Given the description of an element on the screen output the (x, y) to click on. 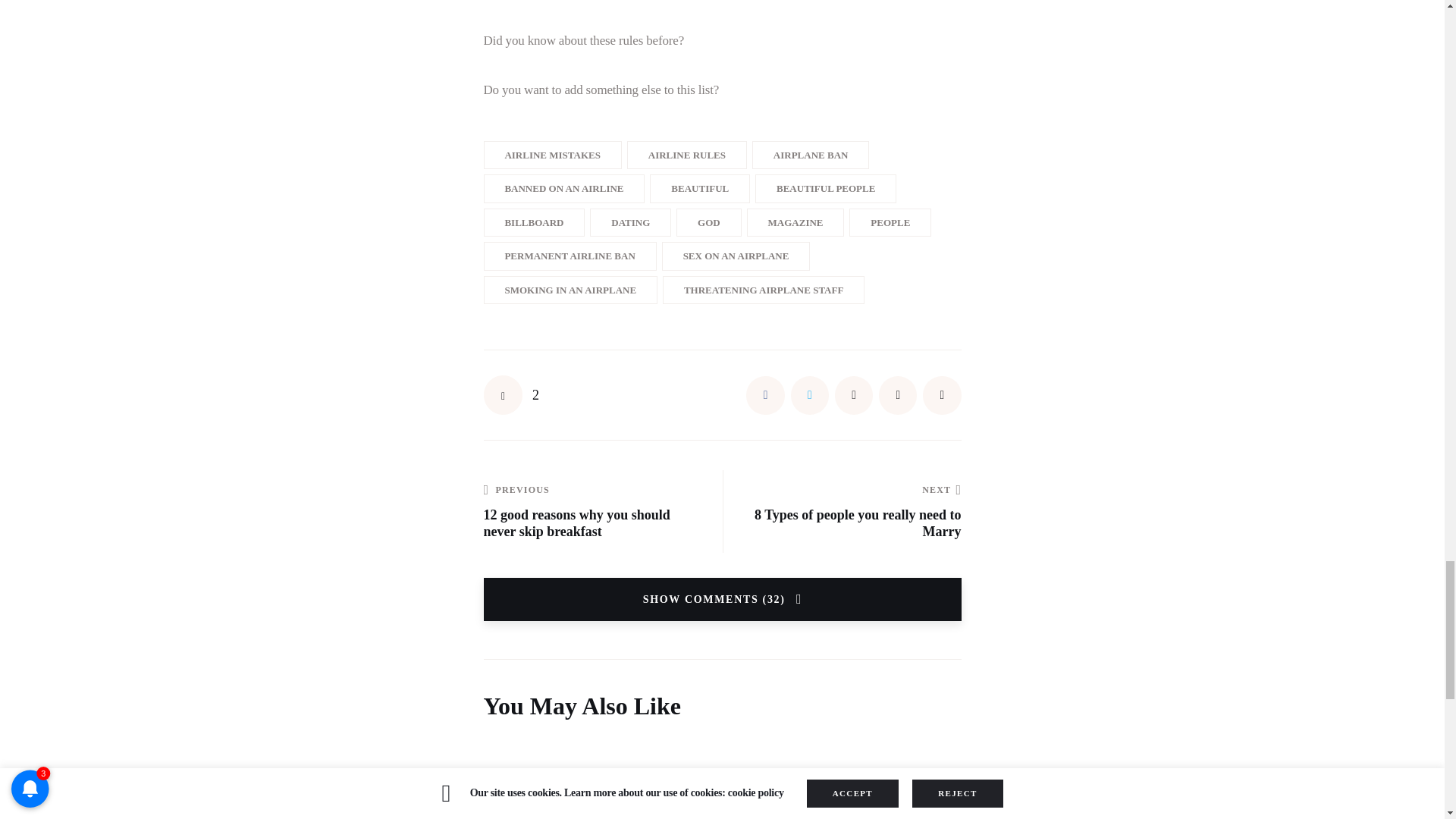
Like (511, 394)
